Given the description of an element on the screen output the (x, y) to click on. 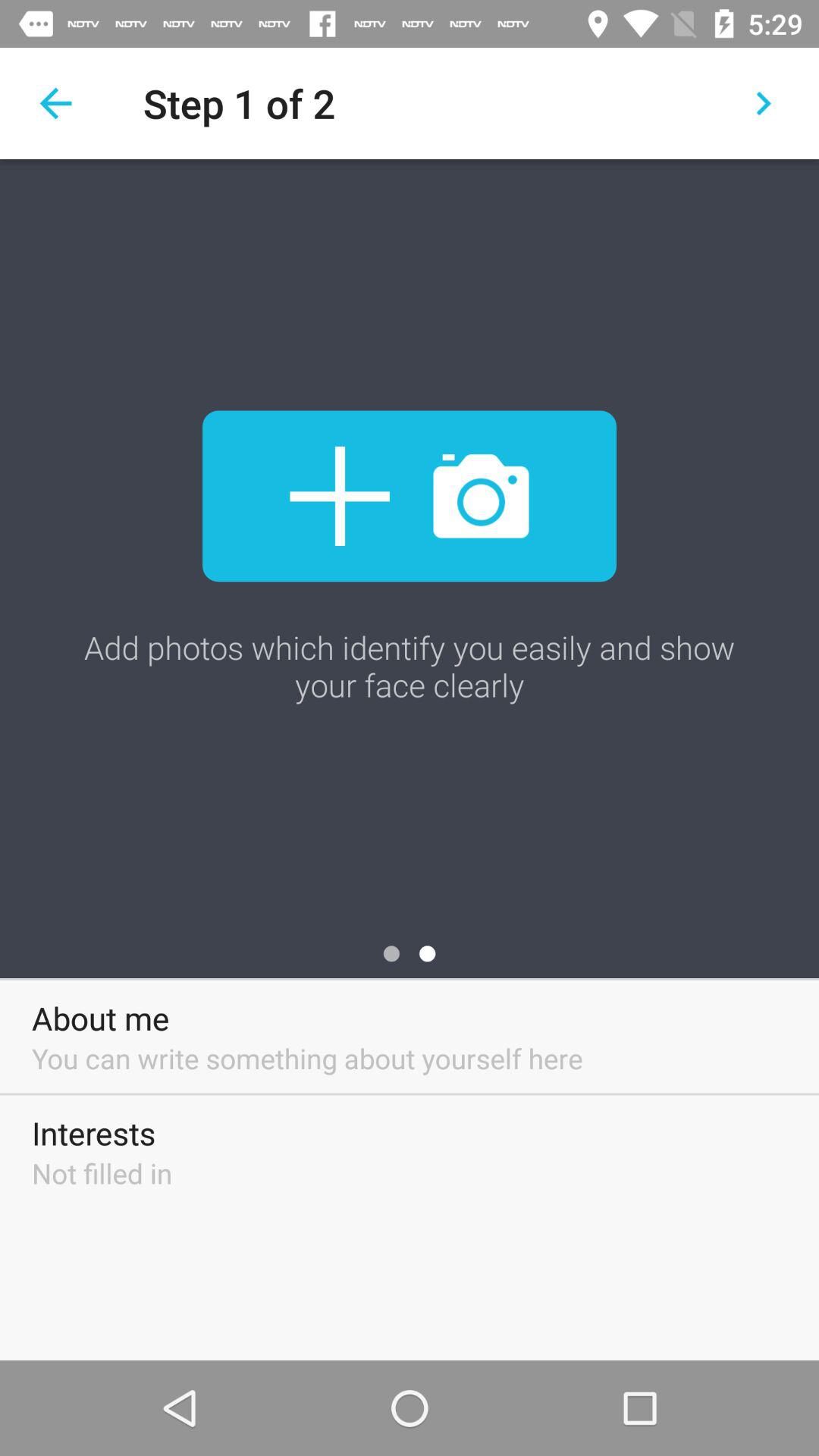
go back (55, 103)
